Given the description of an element on the screen output the (x, y) to click on. 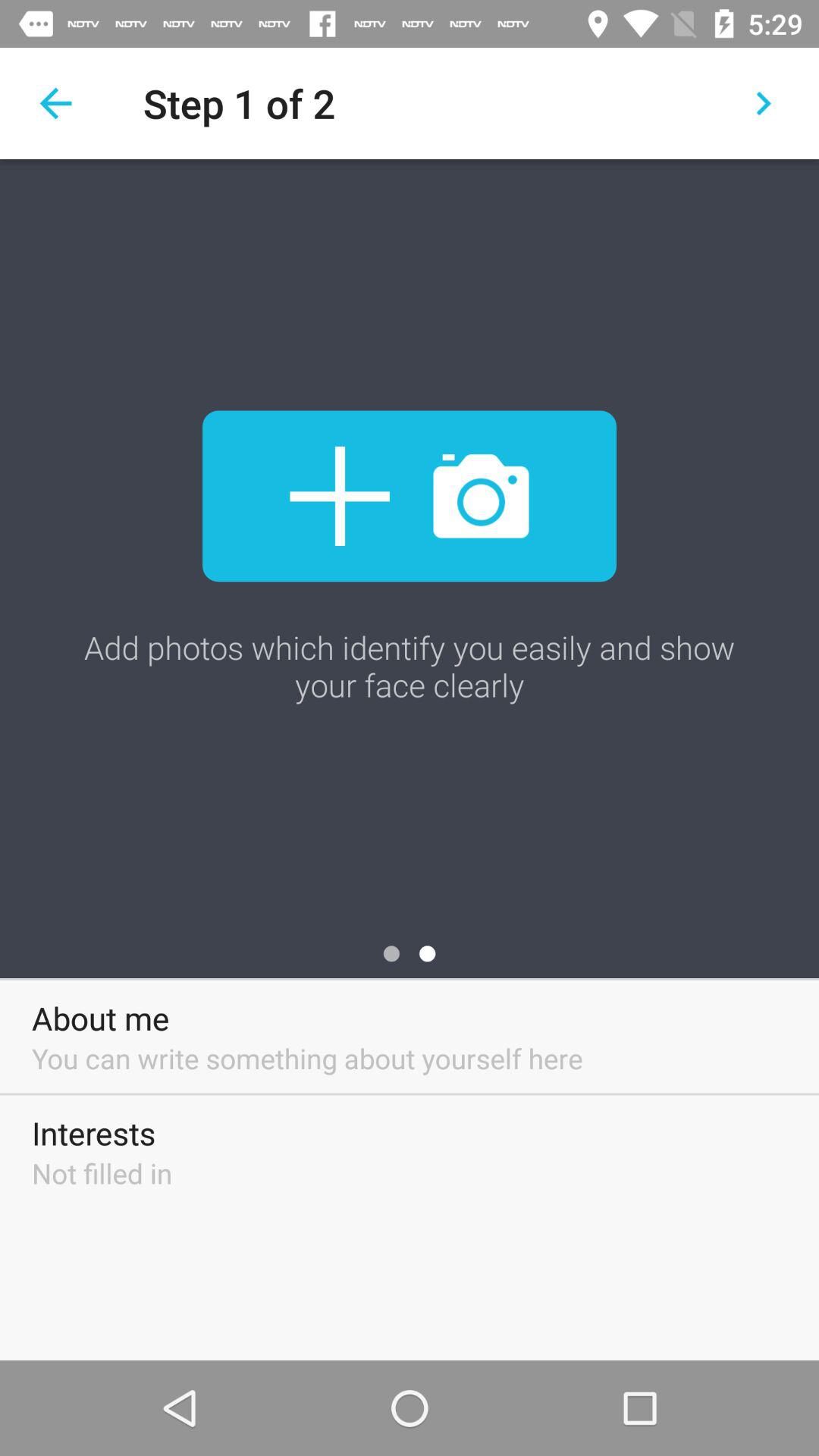
go back (55, 103)
